Given the description of an element on the screen output the (x, y) to click on. 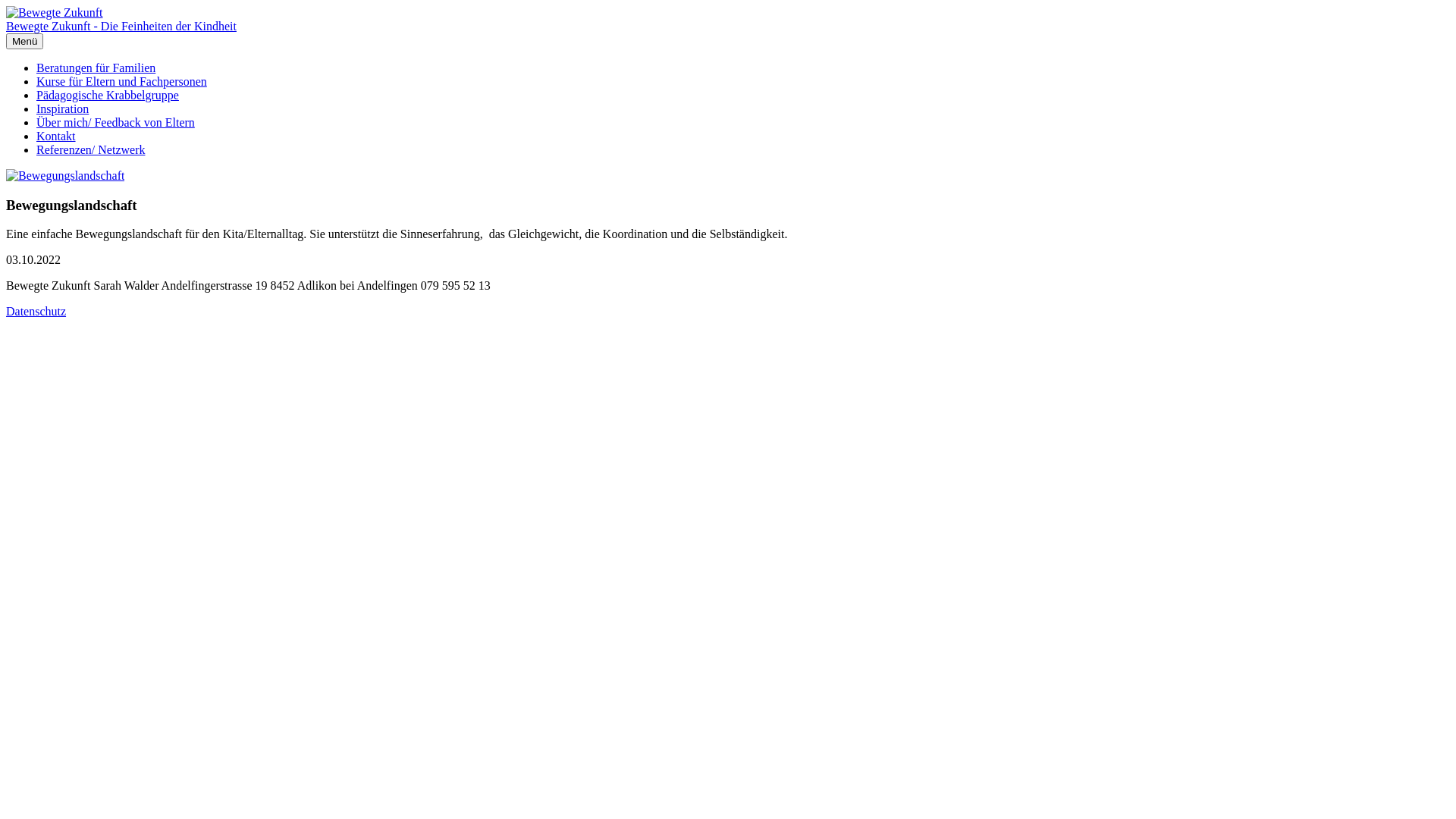
Inspiration Element type: text (62, 108)
Bewegungslandschaft Element type: hover (65, 175)
Bewegte Zukunft - Die Feinheiten der Kindheit Element type: text (121, 25)
Datenschutz Element type: text (35, 310)
Kontakt Element type: text (55, 135)
Bewegte Zukunft Element type: hover (54, 12)
Referenzen/ Netzwerk Element type: text (90, 149)
